Given the description of an element on the screen output the (x, y) to click on. 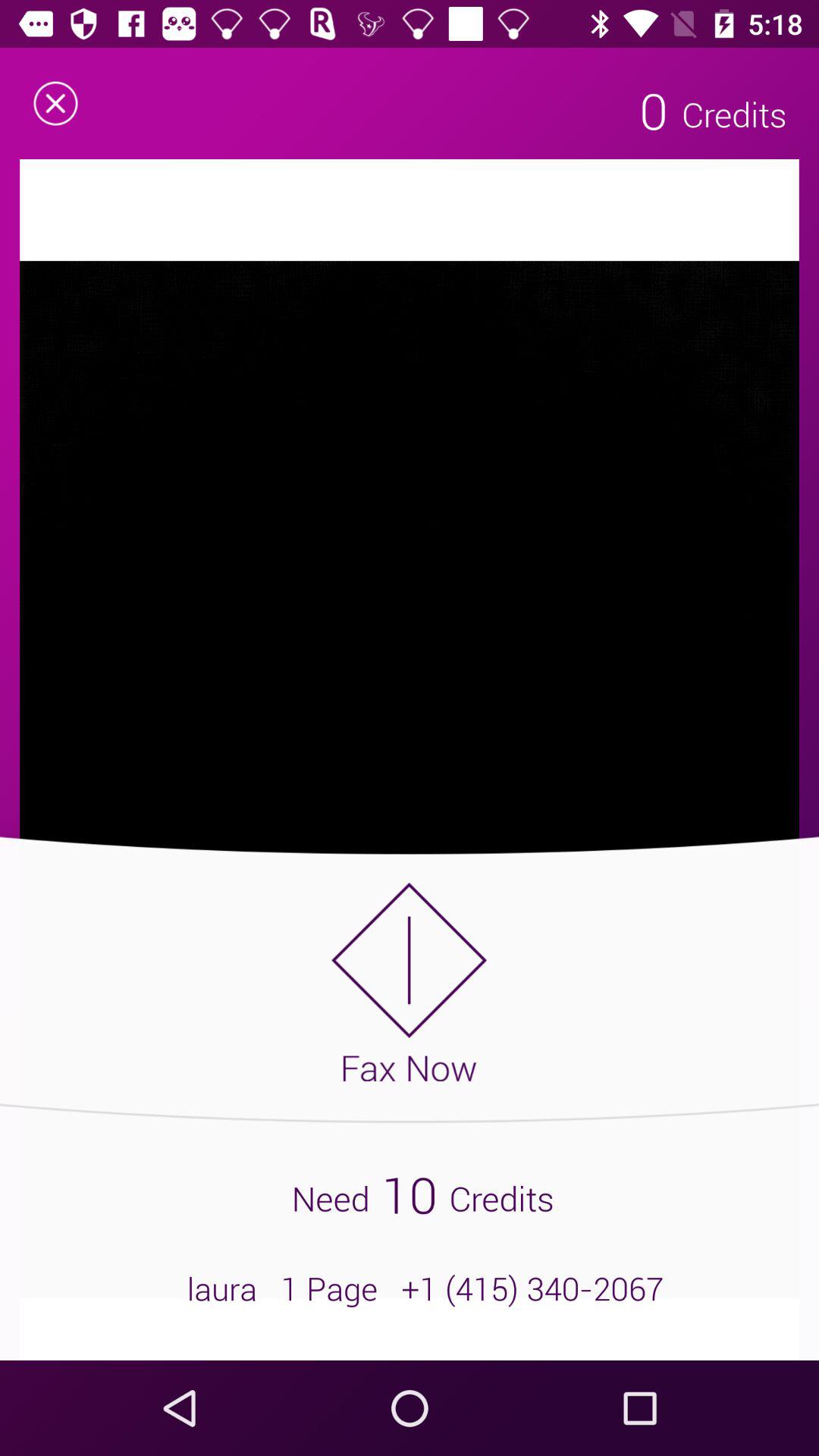
click item to the left of 0 app (55, 103)
